Given the description of an element on the screen output the (x, y) to click on. 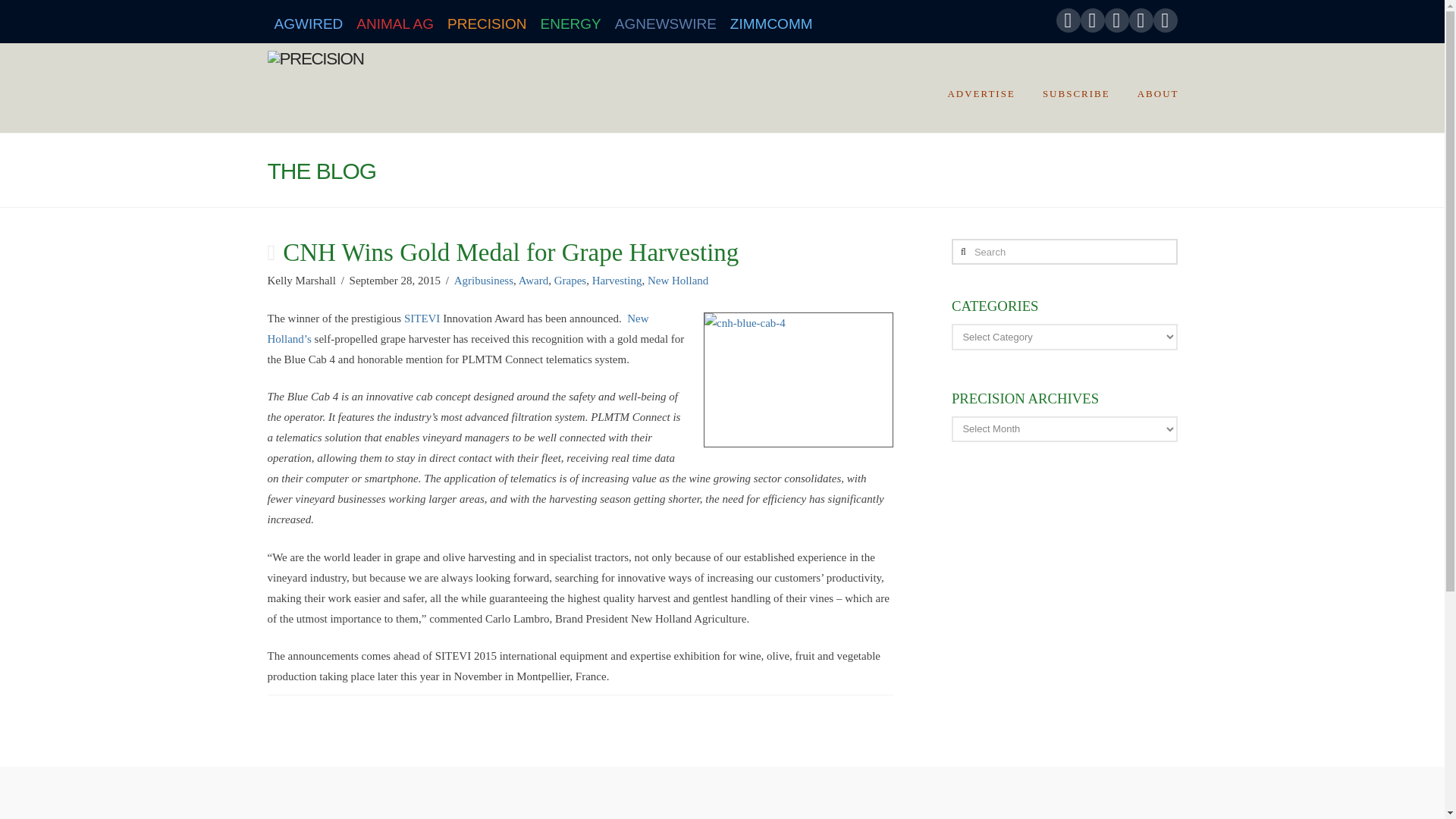
Facebook (1067, 20)
SUBSCRIBE (1074, 87)
Grapes (570, 280)
New Holland (677, 280)
PRECISION (487, 21)
SITEVI (422, 318)
Award (533, 280)
ENERGY (571, 21)
RSS (1164, 20)
AGNEWSWIRE (665, 21)
ABOUT (1149, 87)
Twitter (1091, 20)
ZIMMCOMM (771, 21)
YouTube (1115, 20)
ADVERTISE (980, 87)
